Given the description of an element on the screen output the (x, y) to click on. 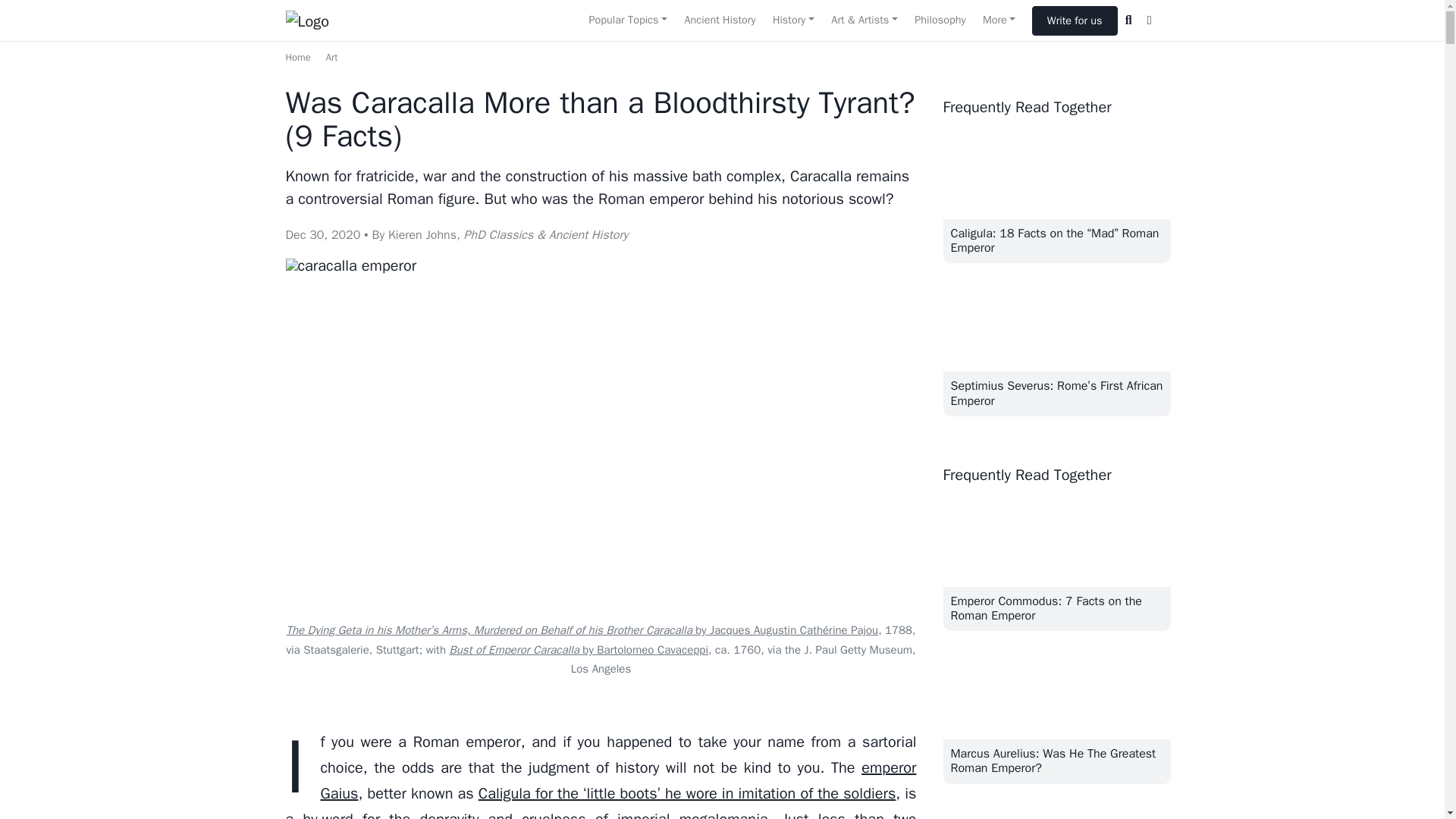
Write for us (1075, 20)
More (999, 20)
Philosophy (939, 20)
Ancient History (718, 20)
History (793, 20)
Popular Topics (627, 20)
